Given the description of an element on the screen output the (x, y) to click on. 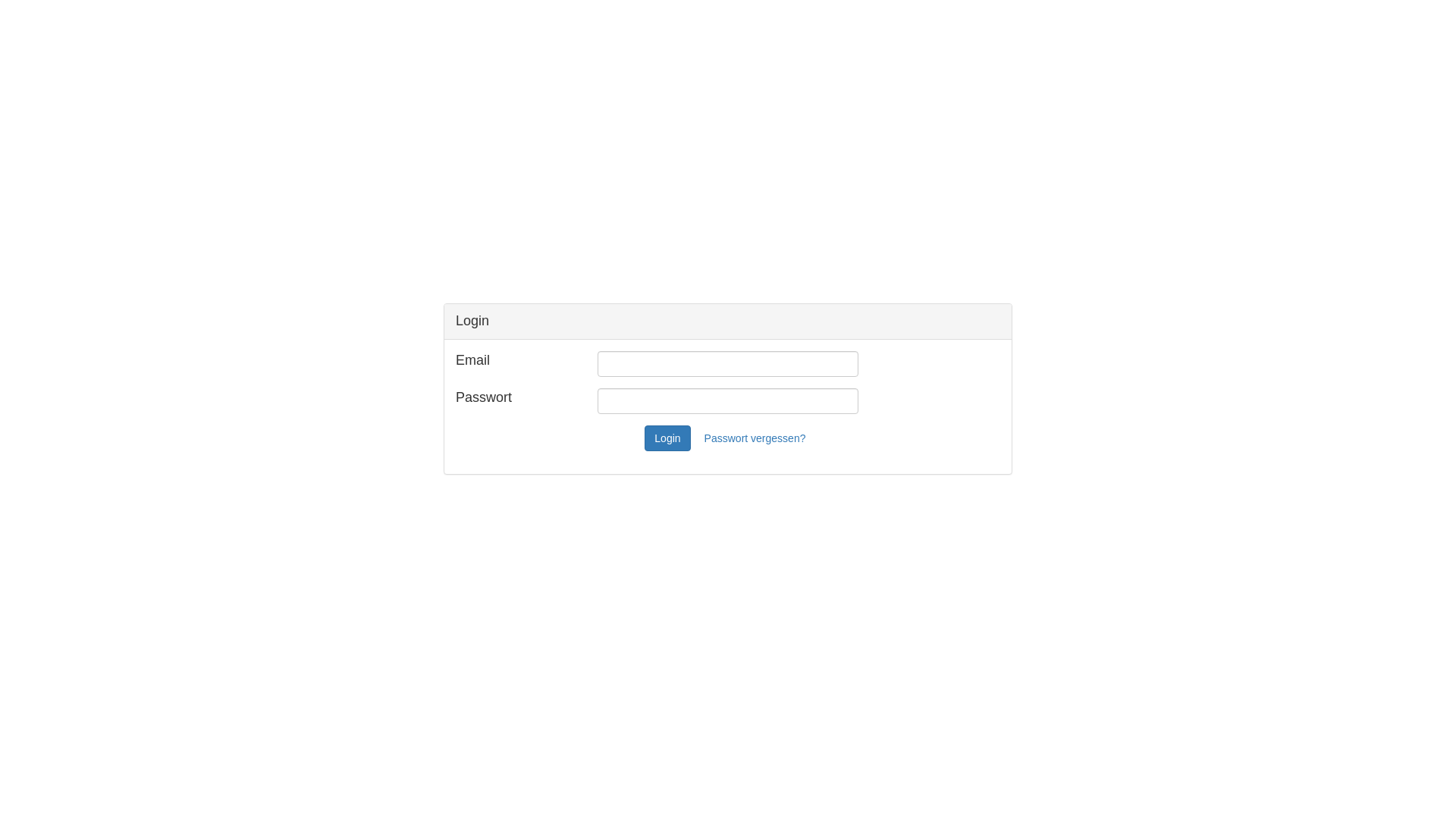
Passwort vergessen? Element type: text (754, 438)
Login Element type: text (667, 438)
